Given the description of an element on the screen output the (x, y) to click on. 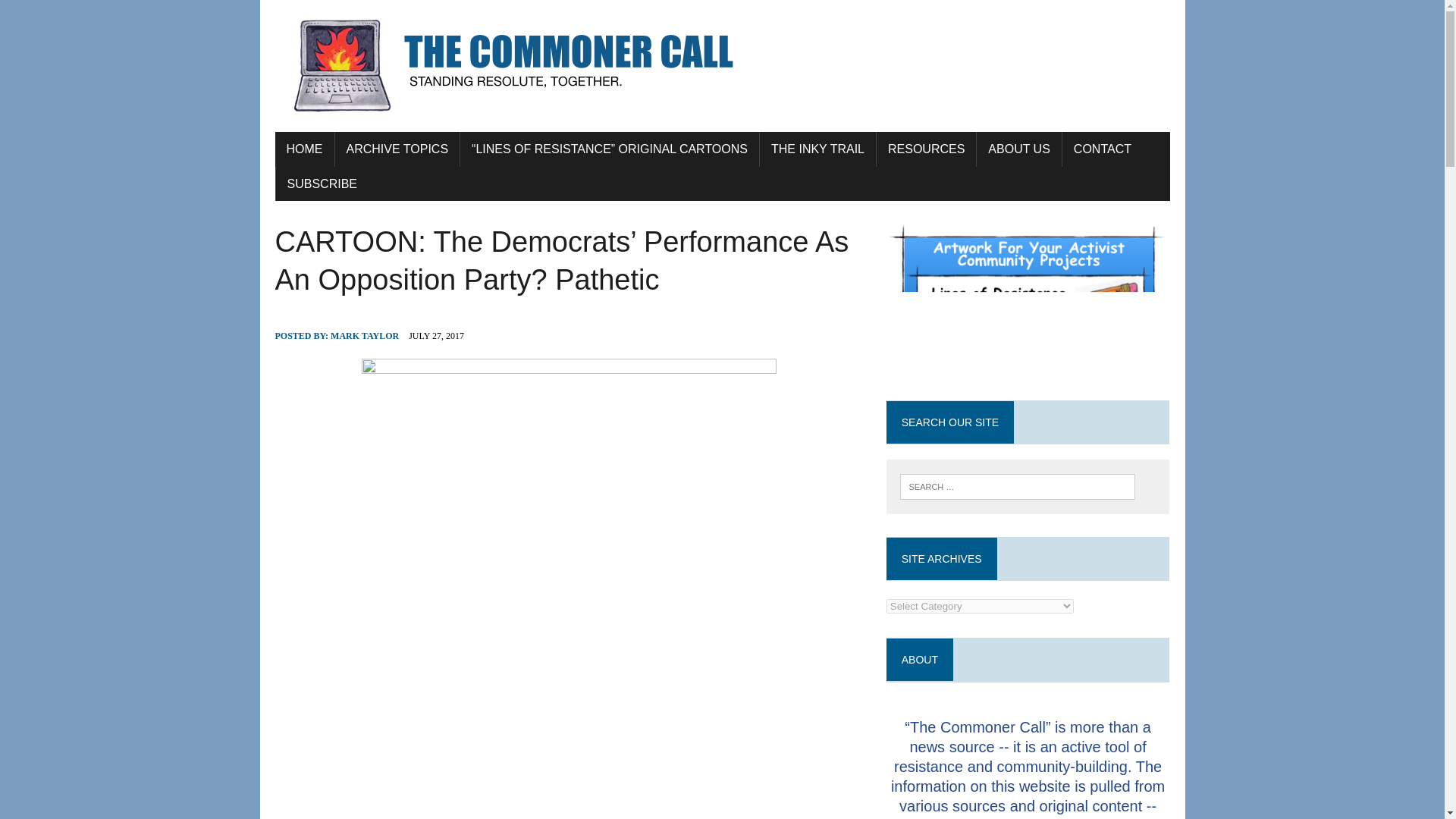
The Commoner Call (722, 66)
